Given the description of an element on the screen output the (x, y) to click on. 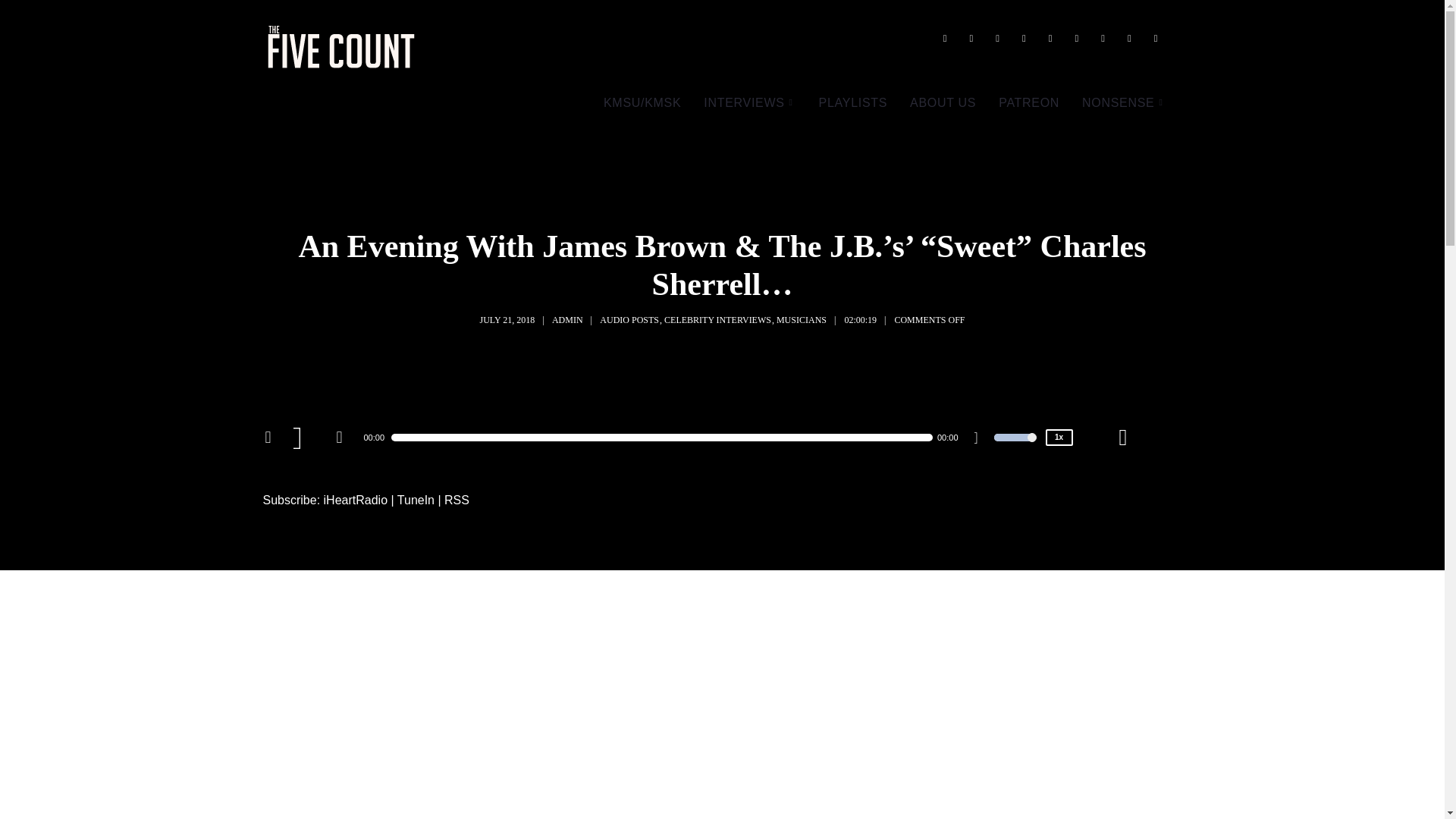
The Five Count (342, 47)
INTERVIEWS (749, 102)
PATREON (1028, 102)
Patreon (1123, 102)
ABOUT US (942, 102)
PLAYLISTS (853, 102)
NONSENSE (1123, 102)
